Given the description of an element on the screen output the (x, y) to click on. 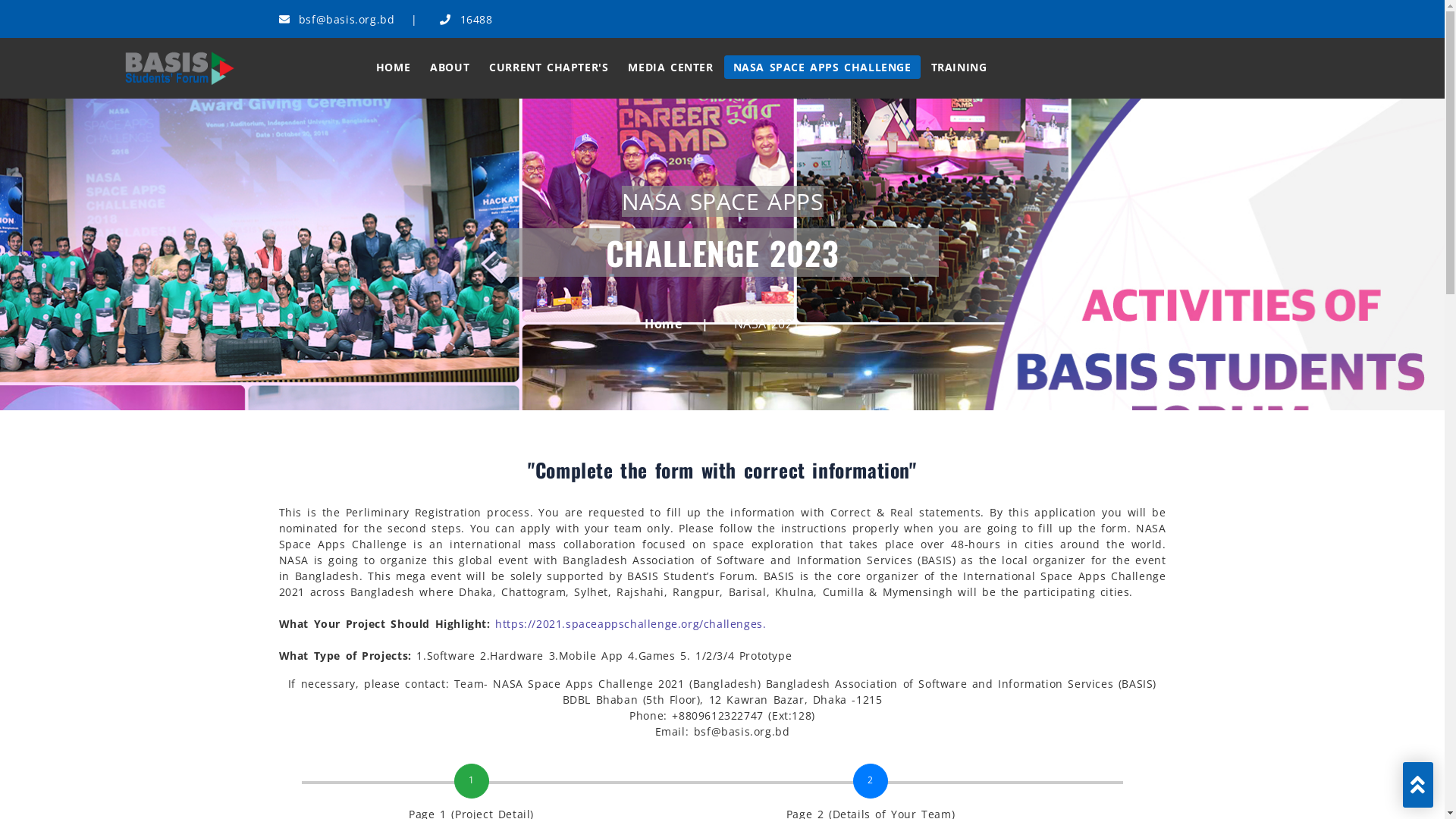
1 Element type: text (471, 780)
CURRENT CHAPTER'S Element type: text (548, 66)
https://2021.spaceappschallenge.org/challenges. Element type: text (630, 623)
MEDIA CENTER Element type: text (669, 66)
NASA SPACE APPS CHALLENGE Element type: text (822, 66)
TRAINING Element type: text (959, 66)
Home Element type: text (662, 323)
2 Element type: text (870, 780)
16488 Element type: text (465, 19)
bsf@basis.org.bd Element type: text (337, 19)
HOME Element type: text (393, 66)
ABOUT Element type: text (449, 66)
